Given the description of an element on the screen output the (x, y) to click on. 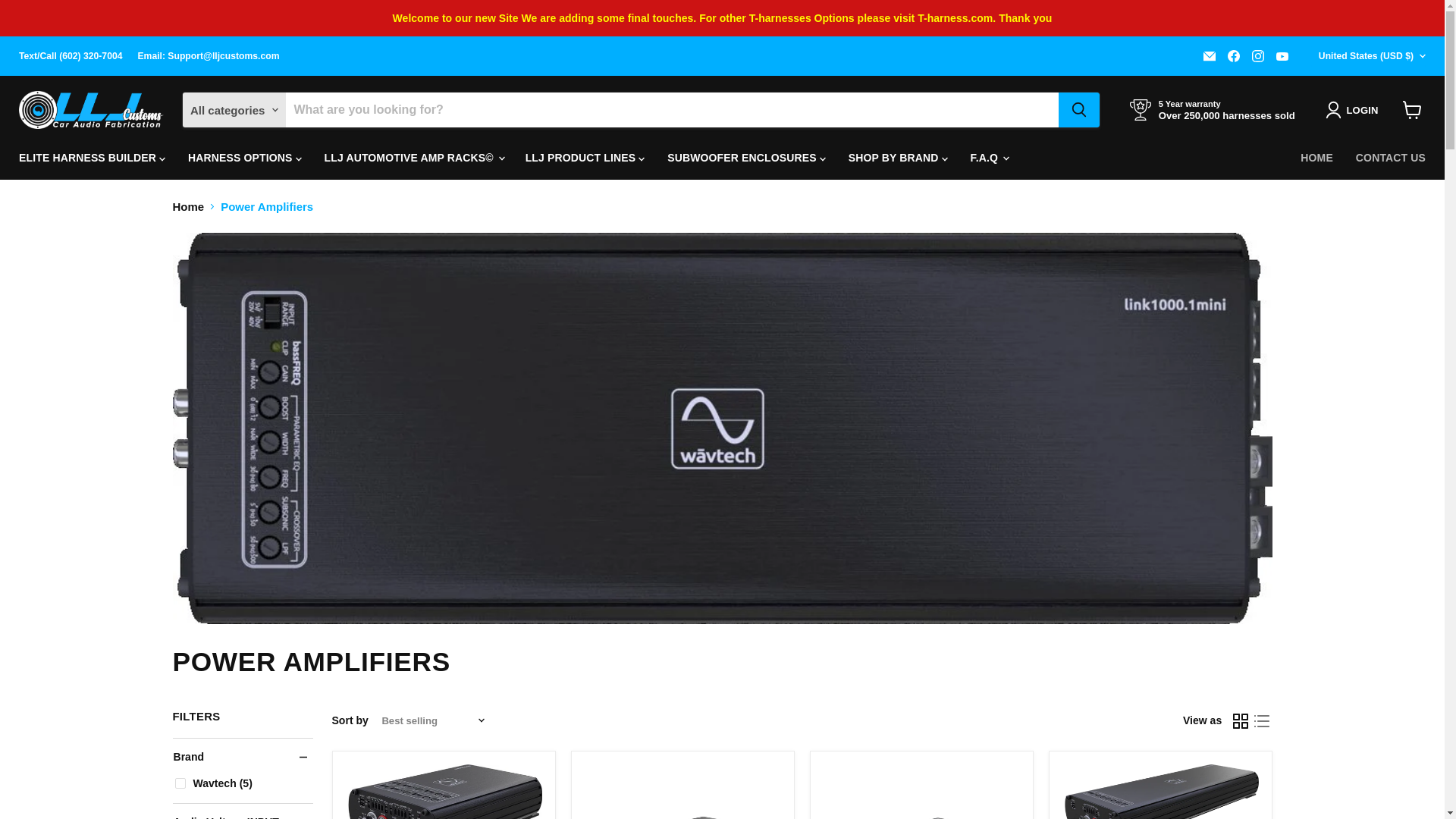
Find us on Facebook (1233, 55)
Email (1209, 55)
View cart (1411, 109)
Facebook (1233, 55)
YouTube (1281, 55)
Email LLJ Customs Car Audio Fabrication (1209, 55)
Find us on YouTube (1281, 55)
Find us on Instagram (1257, 55)
Instagram (1257, 55)
LOGIN (1354, 109)
